Given the description of an element on the screen output the (x, y) to click on. 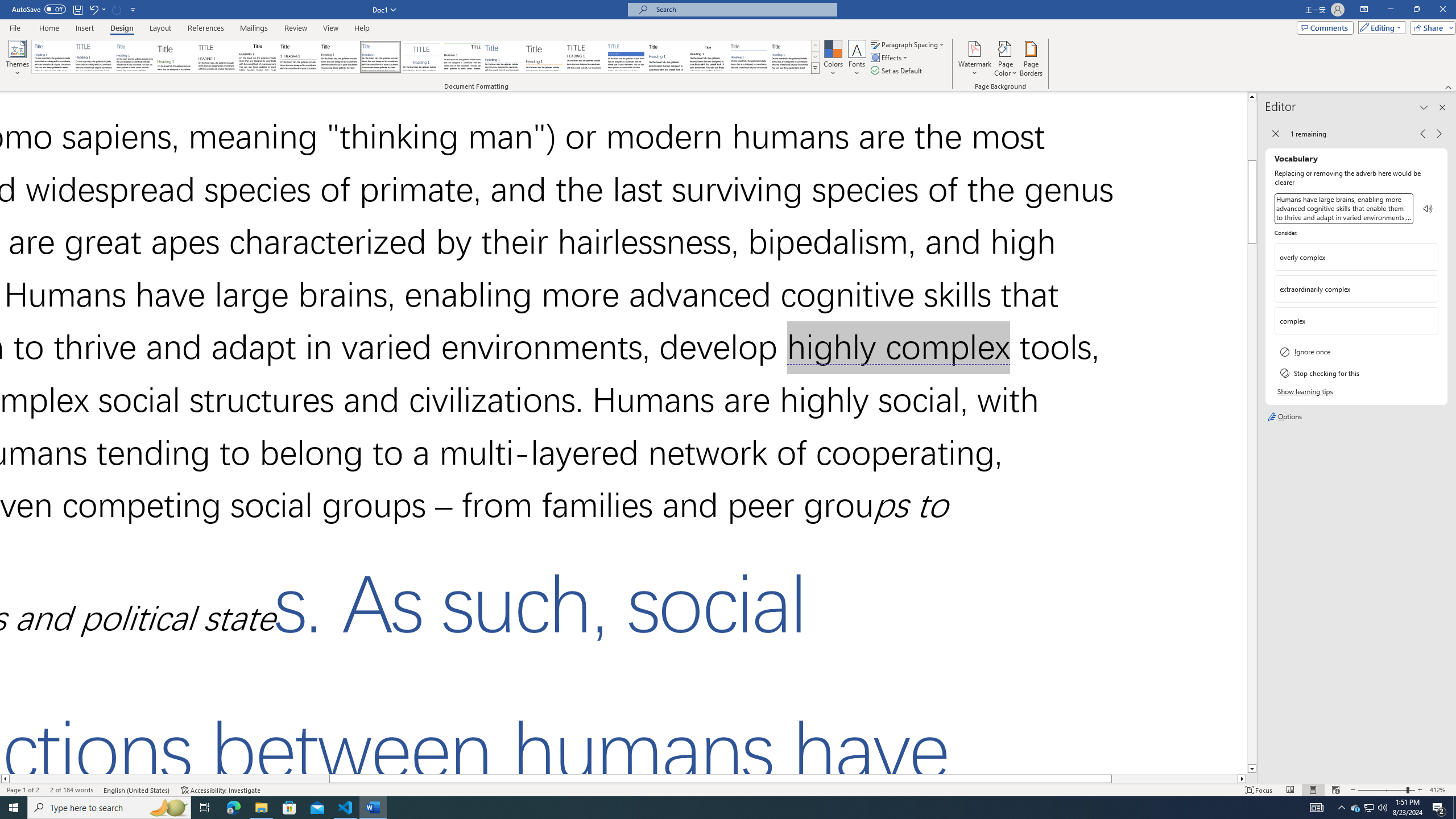
extraordinarily complex (1356, 288)
Black & White (Classic) (257, 56)
Help (361, 28)
overly complex (1347, 257)
Shaded (625, 56)
Black & White (Numbered) (298, 56)
View (330, 28)
Page Number Page 1 of 2 (22, 790)
Lines (Stylish) (544, 56)
Home (48, 28)
Minimalist (584, 56)
Language English (United States) (136, 790)
Column right (1242, 778)
Themes (17, 58)
